Given the description of an element on the screen output the (x, y) to click on. 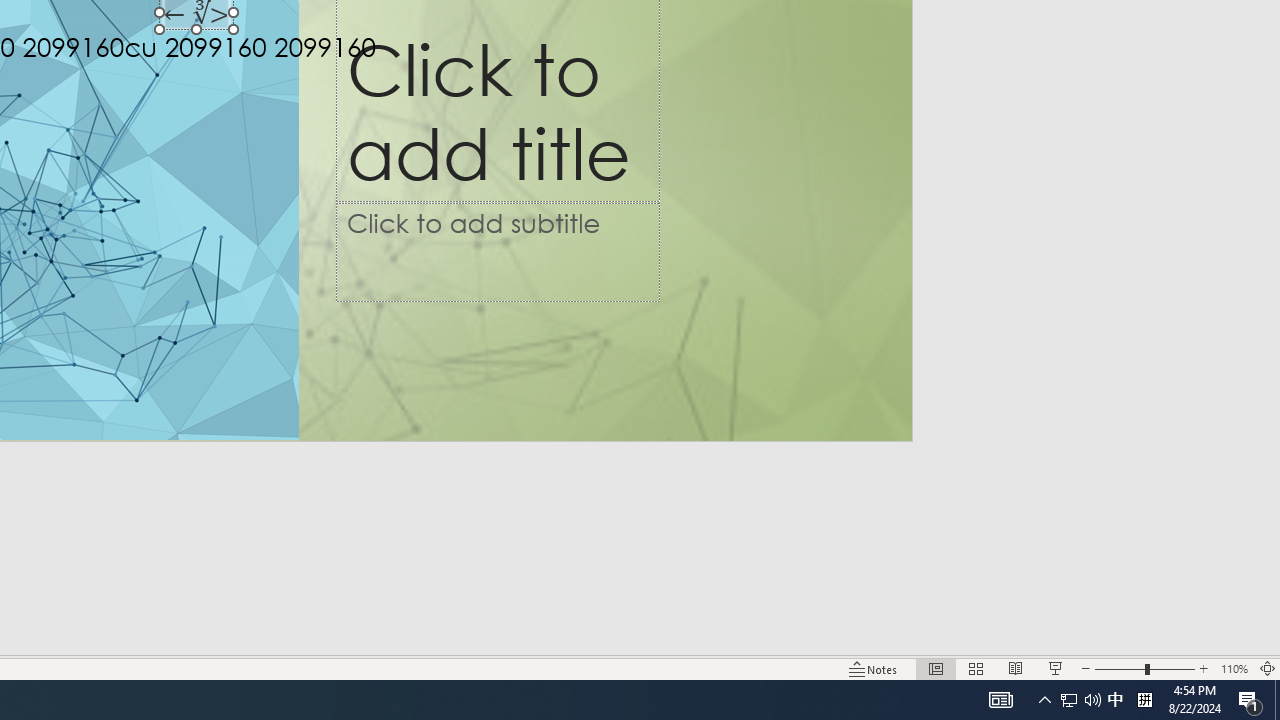
Zoom 110% (1234, 668)
